Given the description of an element on the screen output the (x, y) to click on. 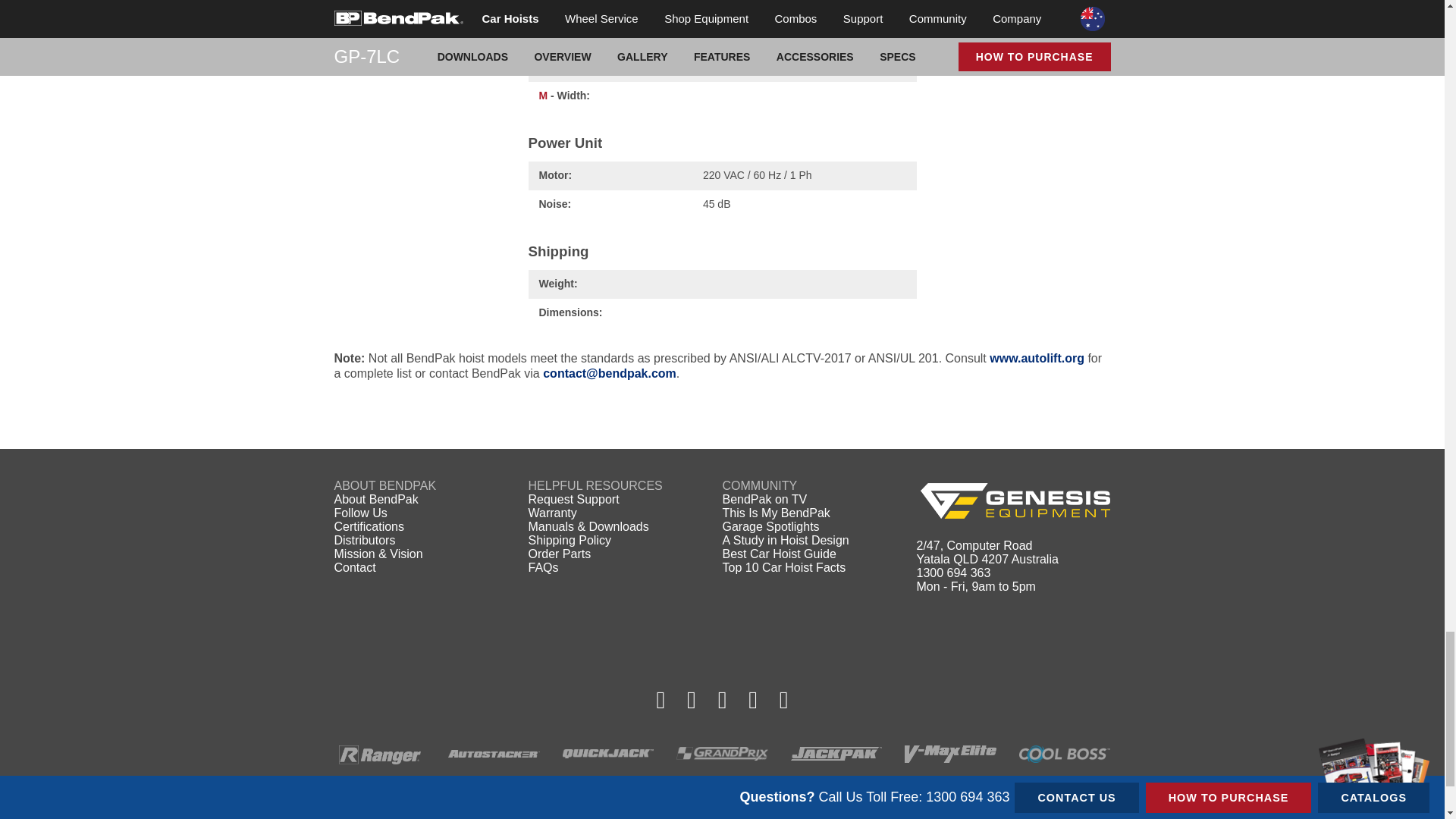
BendPak Blog (783, 699)
Follow BendPak on Twitter (722, 699)
Follow BendPak on YouTube (753, 699)
Follow BendPak on Facebook (660, 699)
